Given the description of an element on the screen output the (x, y) to click on. 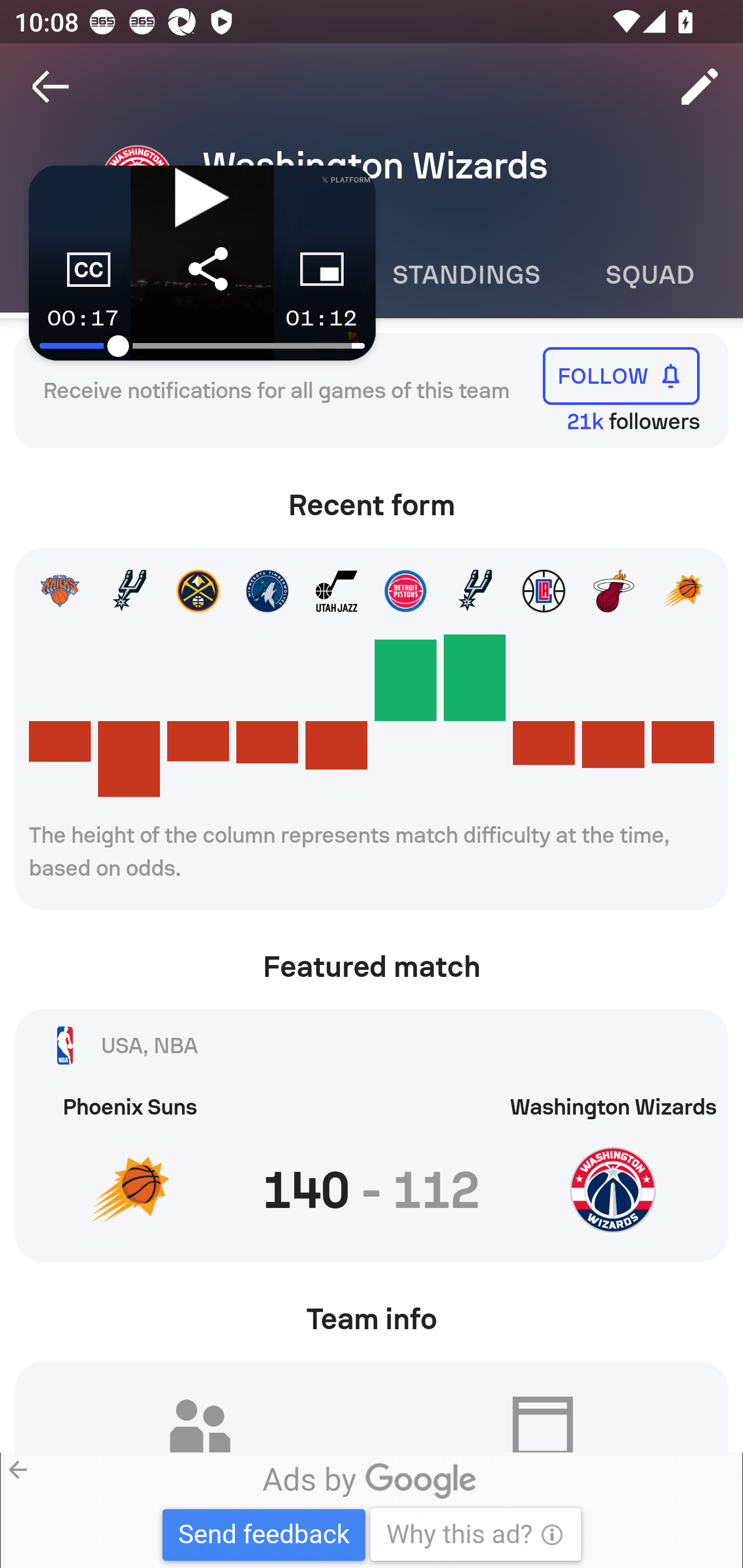
Navigate up (50, 86)
Edit (699, 86)
Standings STANDINGS (465, 275)
Squad SQUAD (650, 275)
FOLLOW (621, 375)
